Given the description of an element on the screen output the (x, y) to click on. 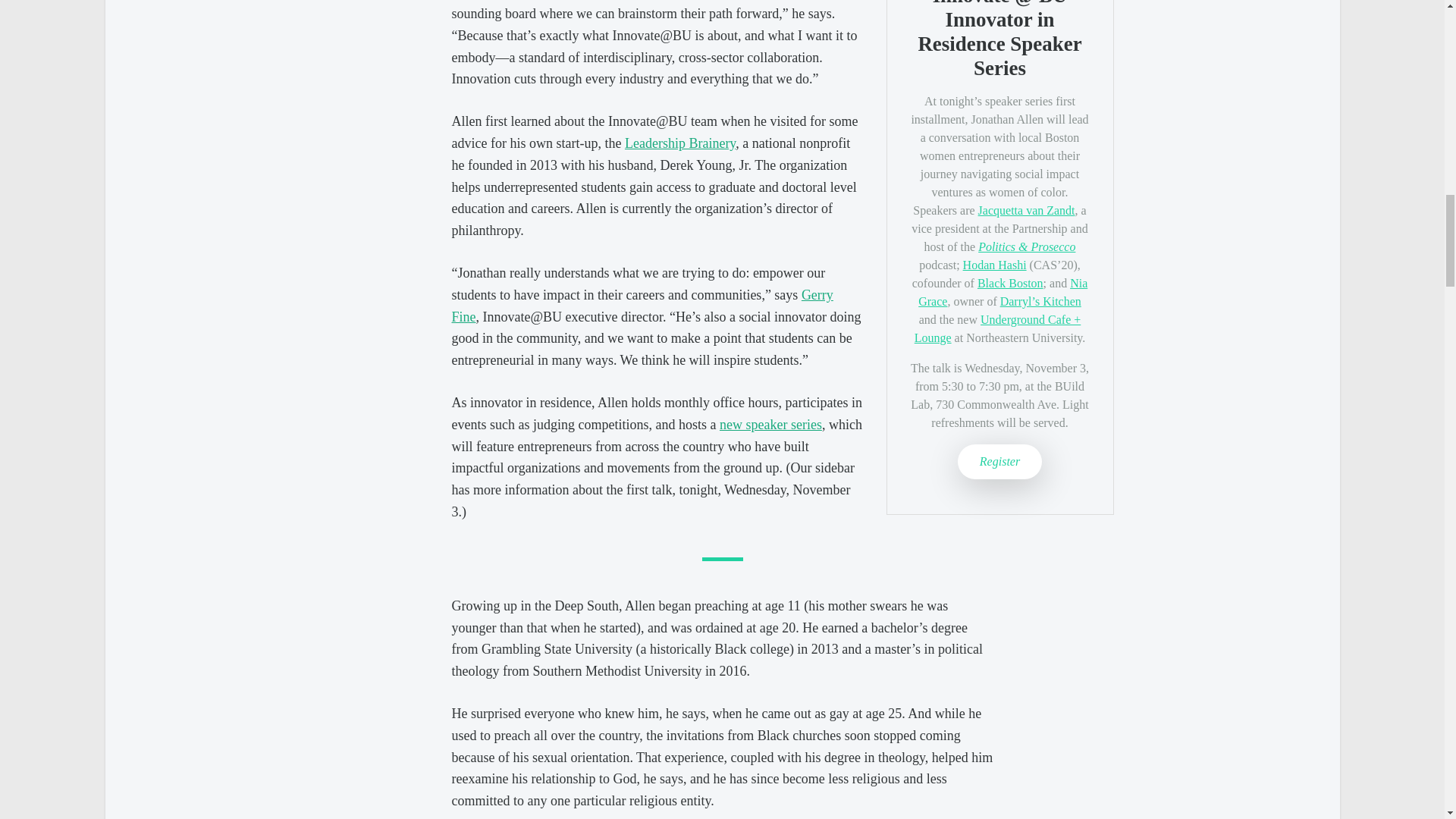
Leadership Brainery (679, 142)
Gerry Fine (641, 305)
Nia Grace (1002, 291)
Register (1000, 461)
new speaker series (770, 424)
Hodan Hashi (994, 264)
Jacquetta van Zandt (1026, 210)
Black Boston (1009, 282)
